Given the description of an element on the screen output the (x, y) to click on. 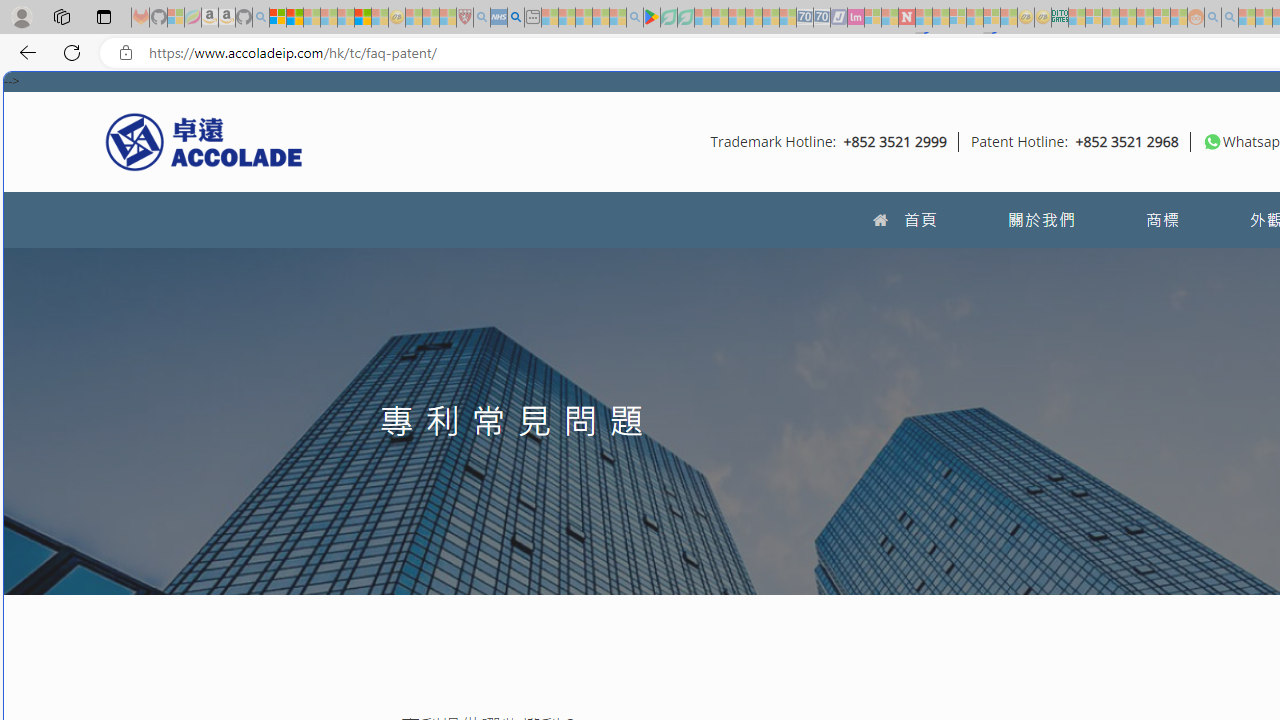
Accolade IP HK Logo (203, 141)
